Given the description of an element on the screen output the (x, y) to click on. 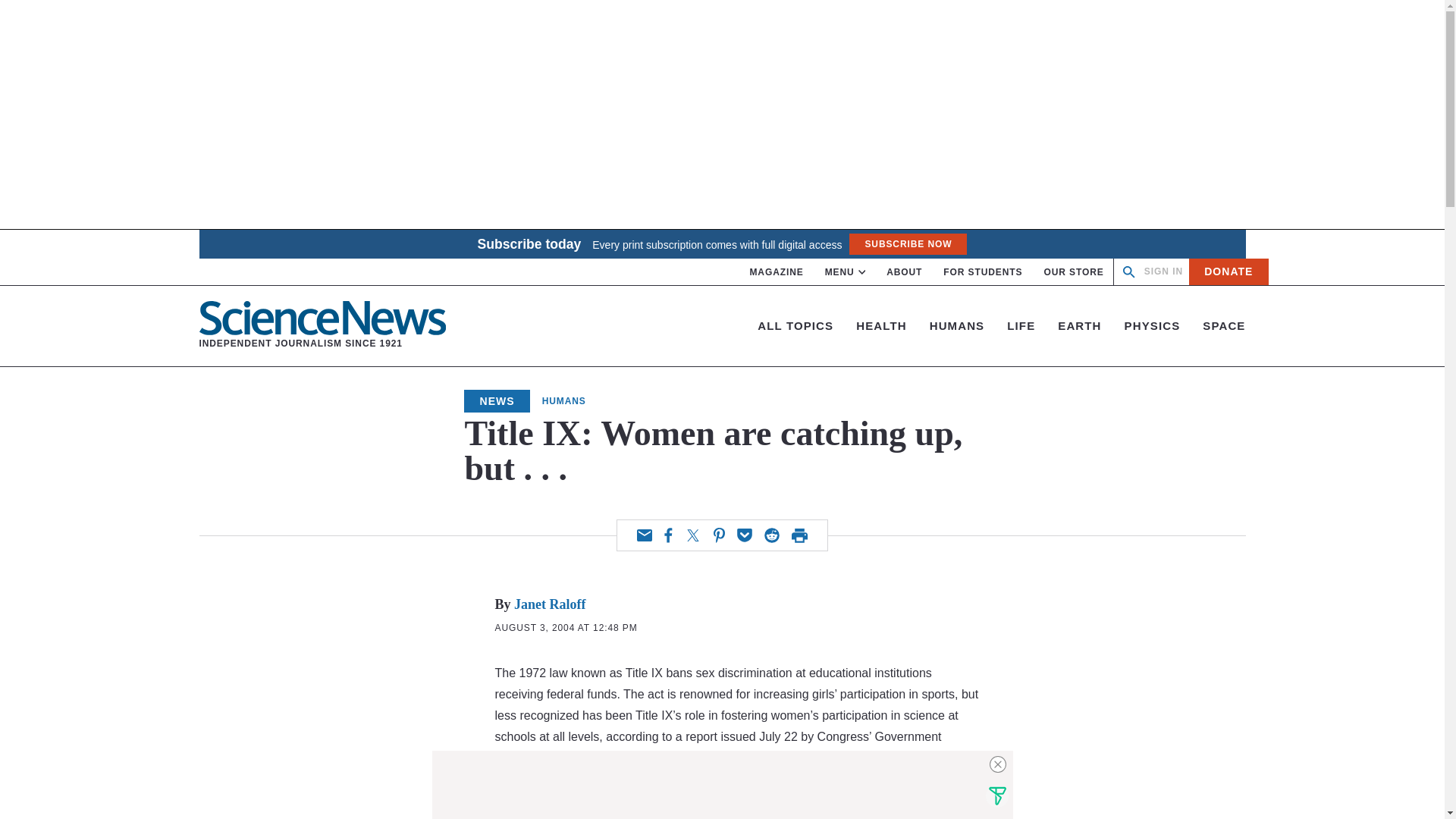
SIGN IN (321, 326)
ABOUT (1163, 271)
OUR STORE (903, 271)
SUBSCRIBE NOW (1073, 271)
DONATE (907, 243)
FOR STUDENTS (1228, 271)
ALL TOPICS (982, 271)
MAGAZINE (794, 325)
MENU (776, 271)
3rd party ad content (845, 271)
